Given the description of an element on the screen output the (x, y) to click on. 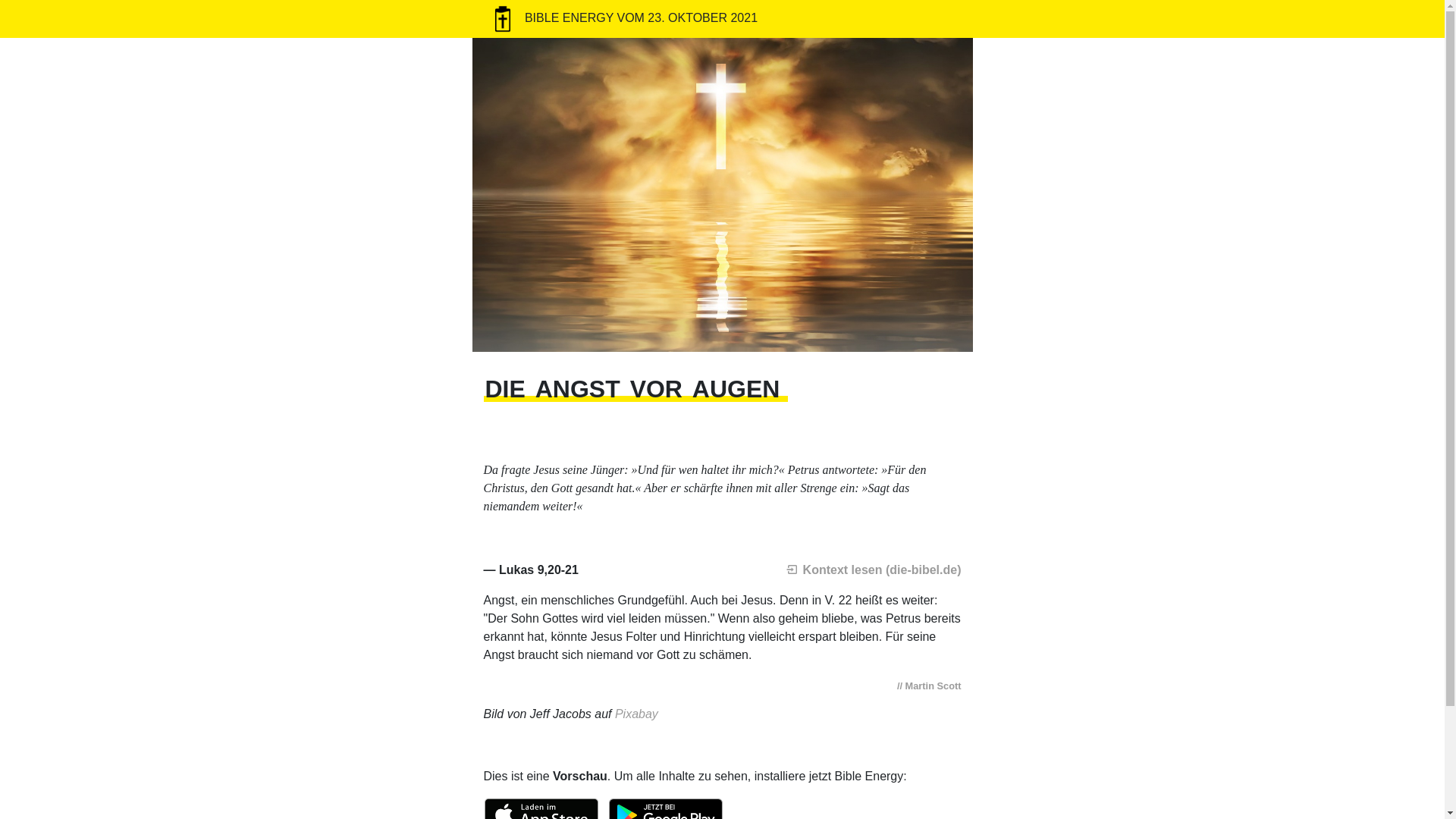
Pixabay Element type: text (636, 713)
Kontext lesen (die-bibel.de) Element type: text (873, 568)
